Given the description of an element on the screen output the (x, y) to click on. 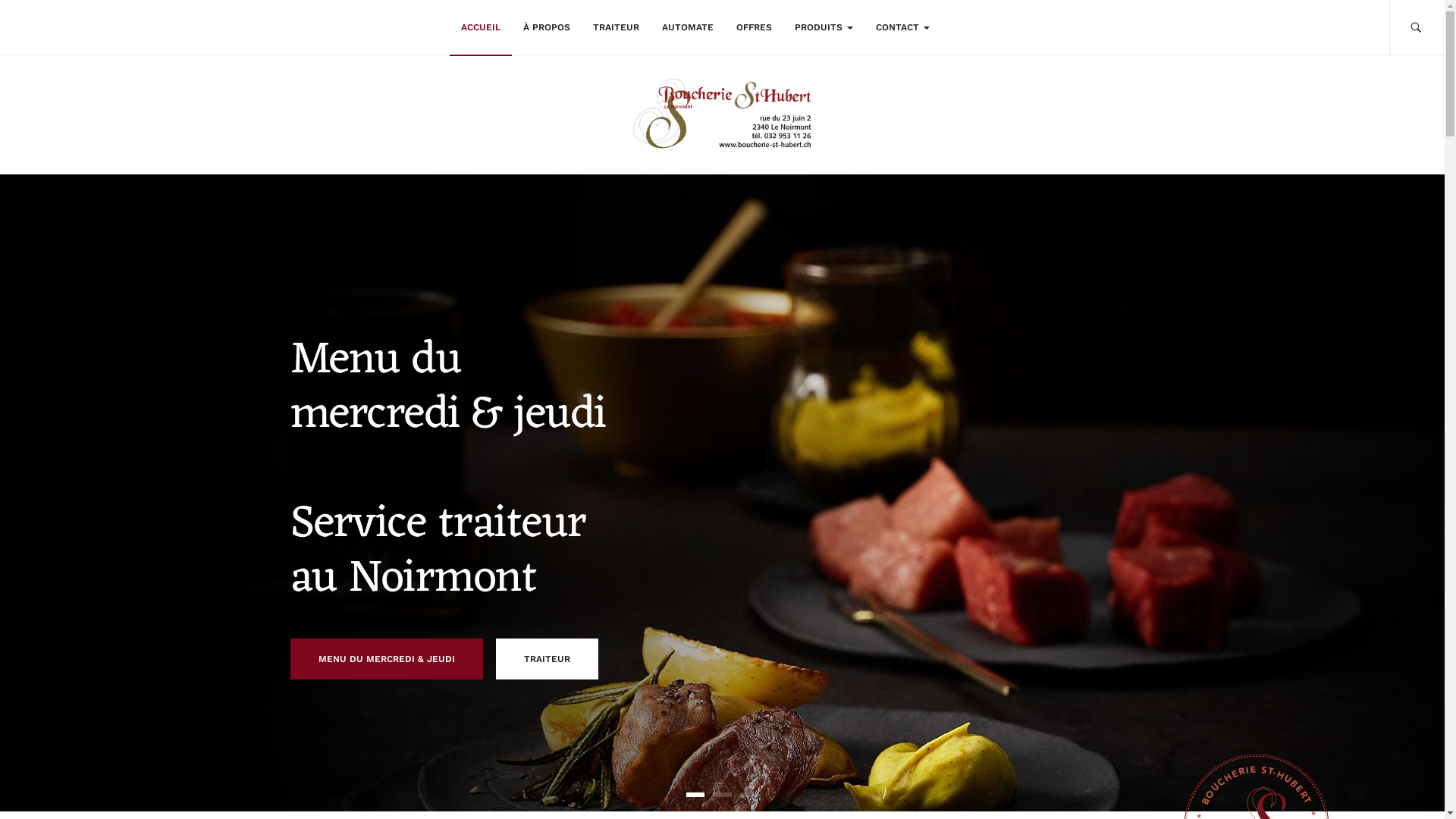
TRAITEUR Element type: text (614, 27)
CONTACT Element type: text (902, 27)
ACCUEIL Element type: text (479, 27)
PRODUITS Element type: text (822, 27)
MENU DU MERCREDI & JEUDI Element type: text (385, 658)
Boucherie St-Hubert Element type: hover (721, 114)
AUTOMATE Element type: text (687, 27)
OFFRES Element type: text (753, 27)
TRAITEUR Element type: text (546, 658)
